Given the description of an element on the screen output the (x, y) to click on. 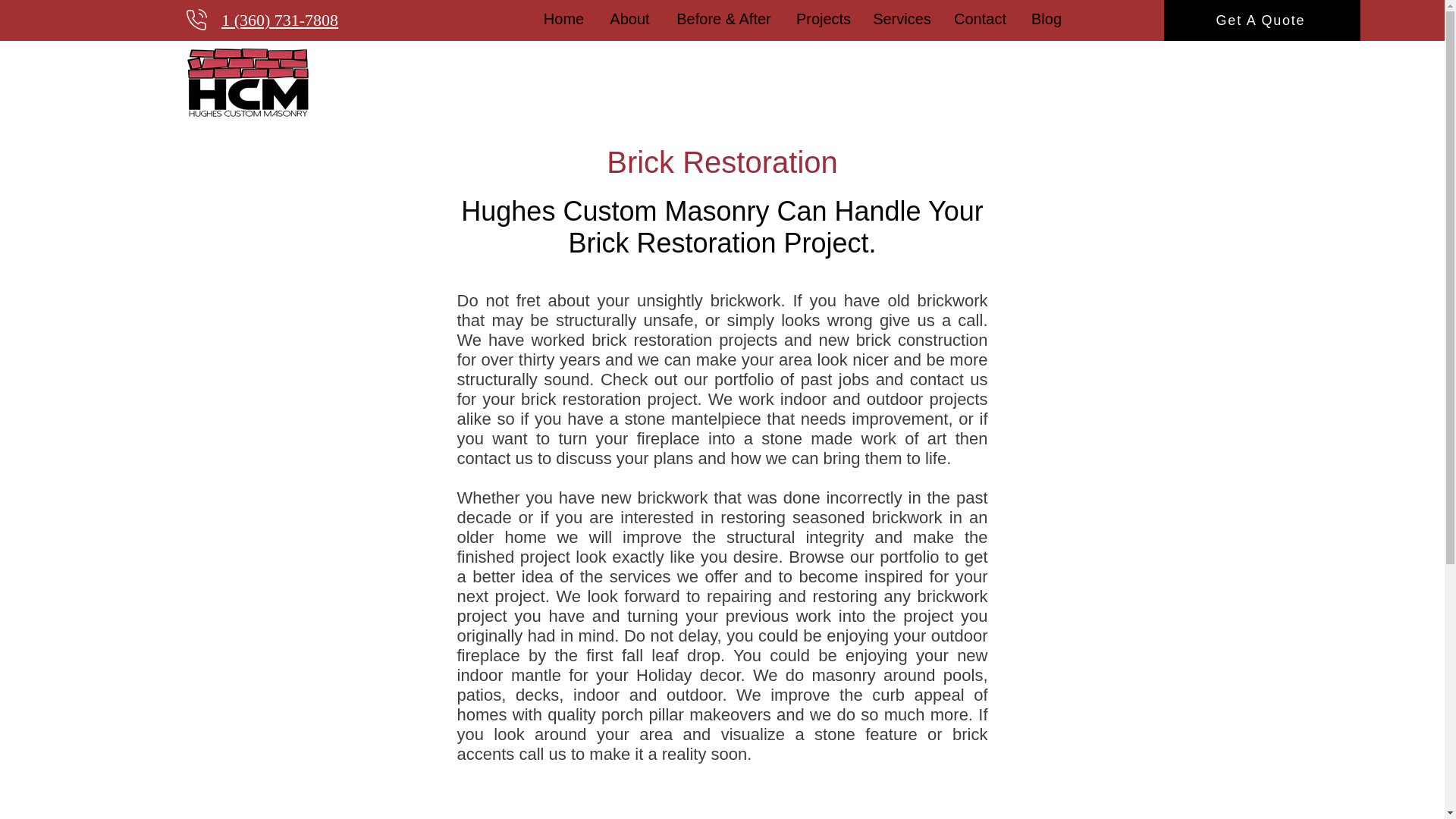
Home (563, 18)
Blog (1046, 18)
Get A Quote (1261, 20)
About (628, 18)
Contact (980, 18)
Projects (822, 18)
